Given the description of an element on the screen output the (x, y) to click on. 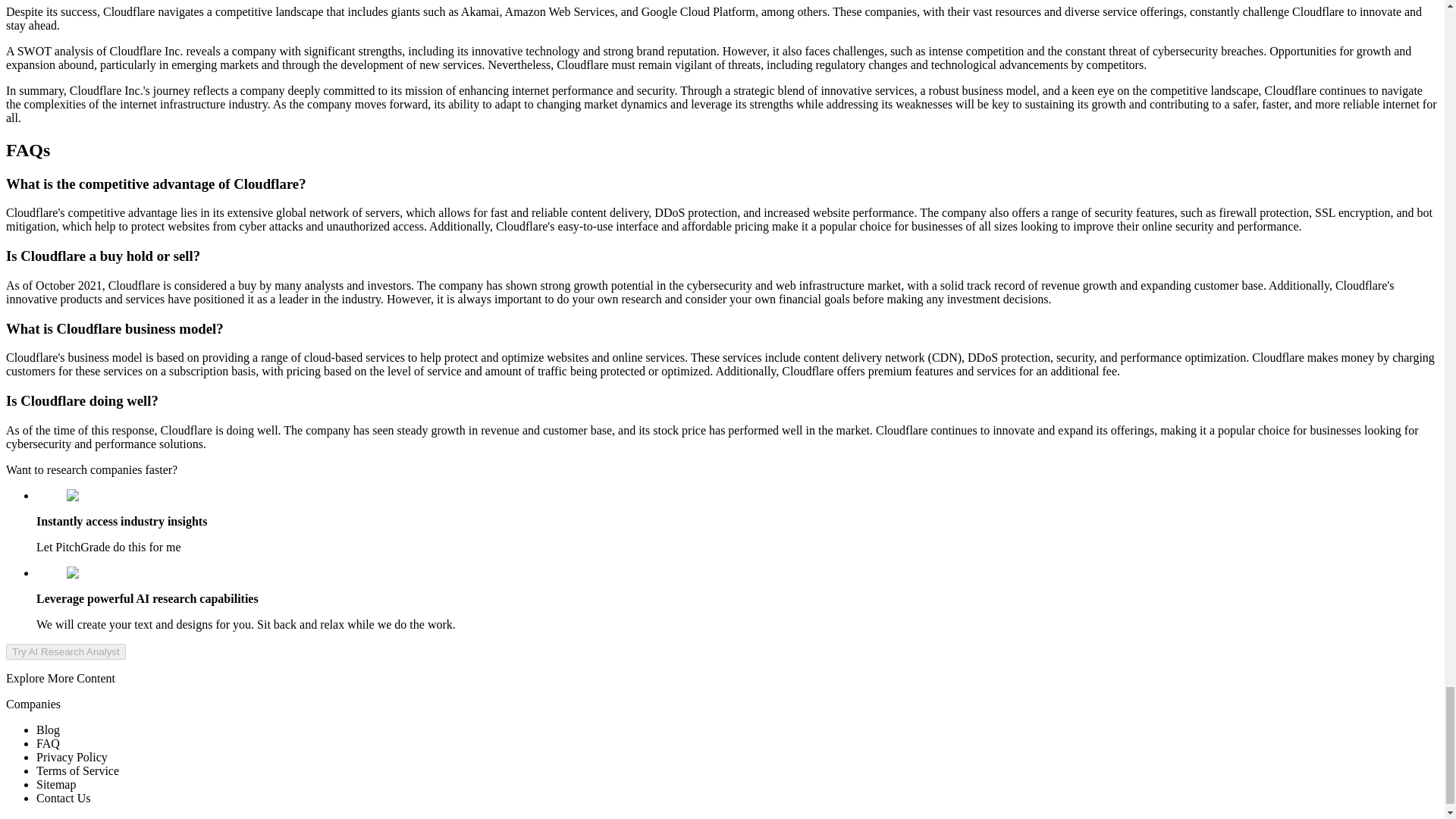
instantly (93, 495)
Try AI Research Analyst (65, 651)
smile (85, 572)
